Given the description of an element on the screen output the (x, y) to click on. 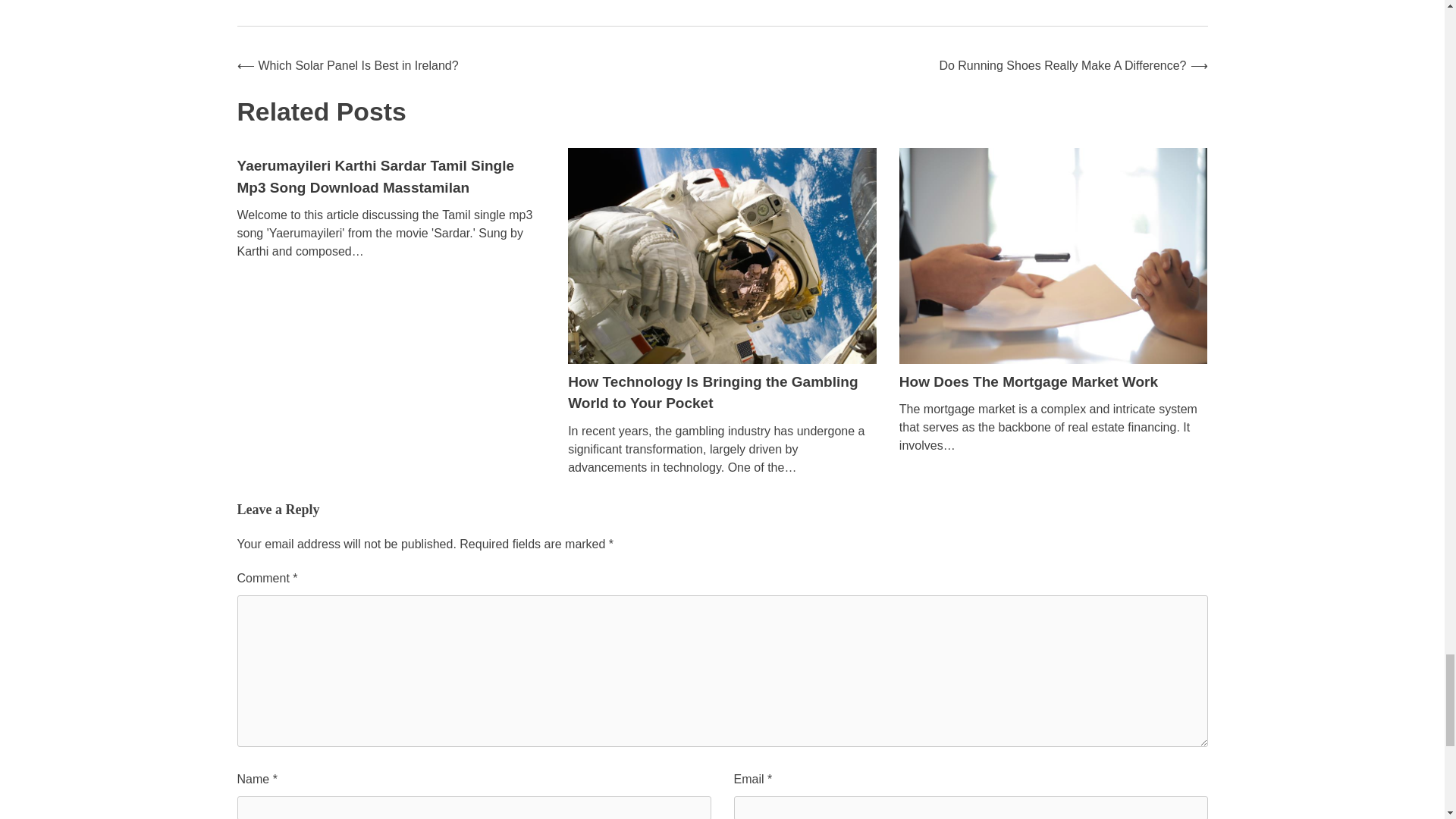
How Does The Mortgage Market Work (1028, 381)
How Technology Is Bringing the Gambling World to Your Pocket (712, 392)
